Given the description of an element on the screen output the (x, y) to click on. 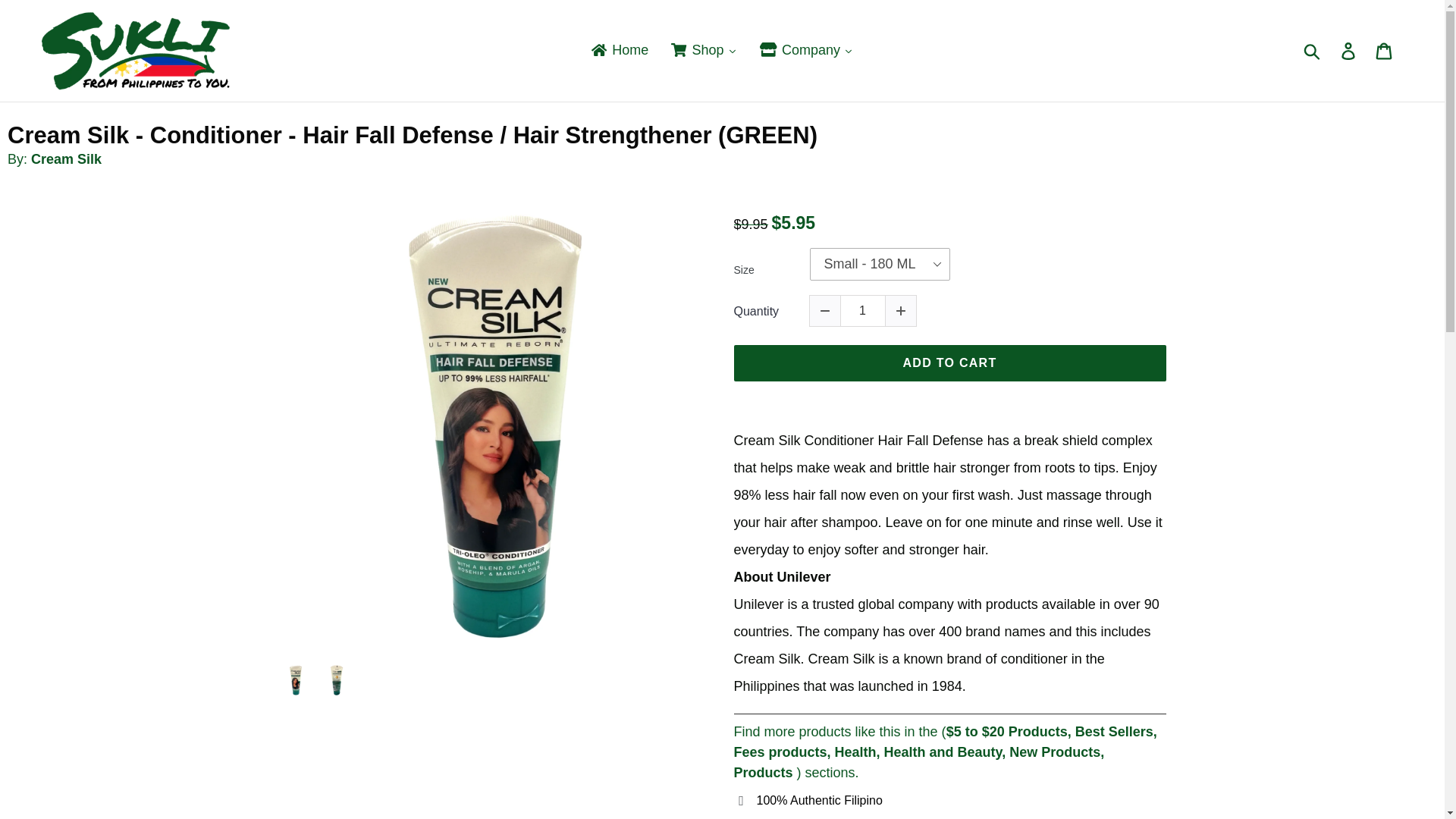
Company (806, 50)
Shop (703, 50)
ADD TO CART (949, 362)
Home (619, 50)
Submit (1313, 50)
Products (763, 772)
Health and Beauty (943, 752)
Shop (703, 50)
New Products (1054, 752)
Home (619, 50)
Fees products (780, 752)
Best Sellers (1114, 731)
Health (855, 752)
Company (806, 50)
Cream Silk (65, 159)
